Given the description of an element on the screen output the (x, y) to click on. 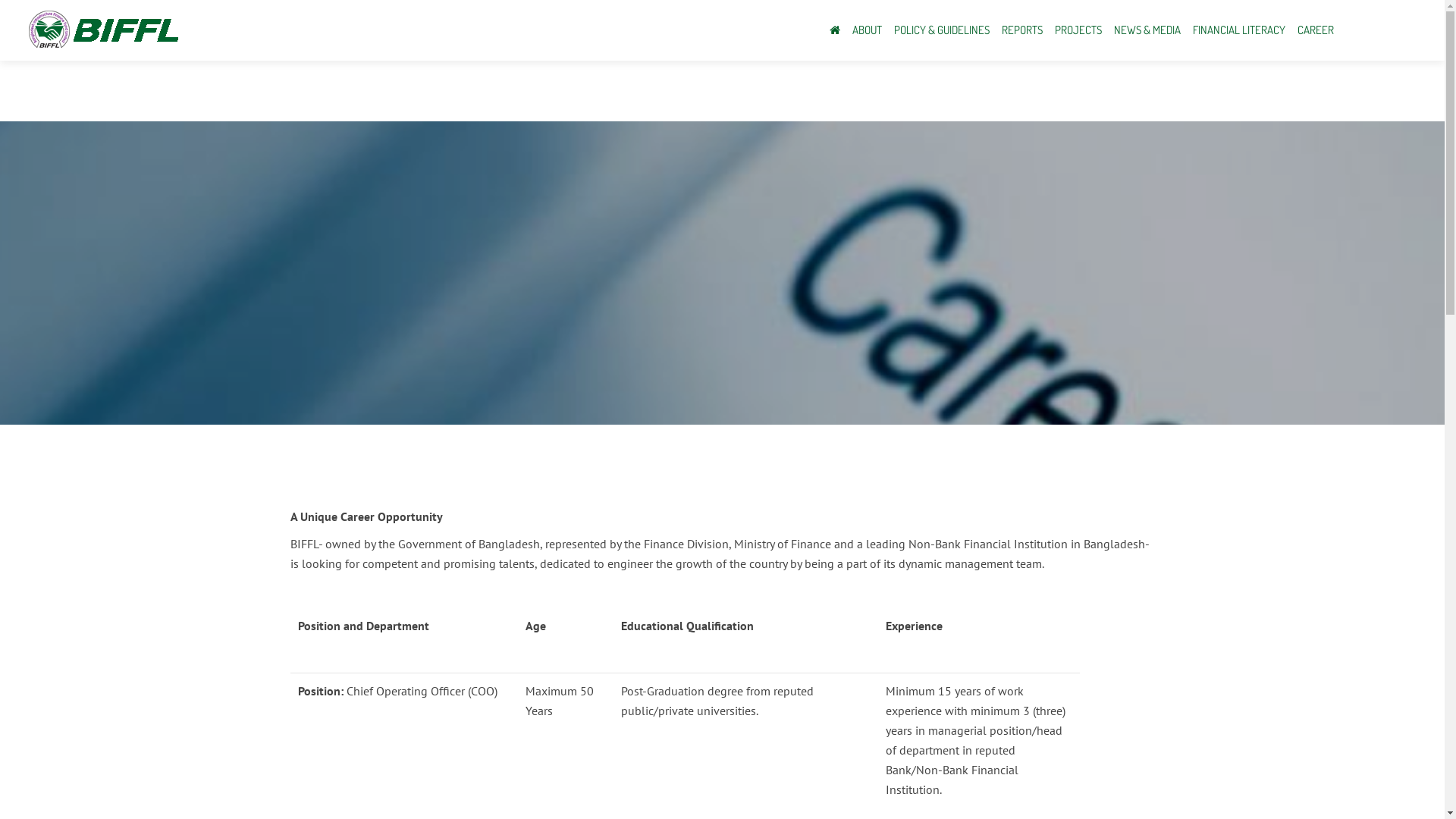
DOWNLOADS Element type: text (329, 598)
ABOUT Element type: text (867, 30)
PROJECTS Element type: text (1077, 30)
GREEN OFFICE Element type: text (334, 638)
REPORTS Element type: text (1021, 30)
SUBSCRIBE Element type: text (929, 726)
BIFFL Hotline: +8809638124335 Element type: text (680, 697)
CONTACT Element type: text (320, 657)
SITEMAP Element type: text (619, 618)
DISCLAIMER Element type: text (628, 657)
NEWS & MEDIA Element type: text (1146, 30)
FINANCIAL LITERACY Element type: text (1238, 30)
REGULATORY DISCLOSURE Element type: text (665, 598)
CAREER Element type: text (1315, 30)
TERM OF USE Element type: text (631, 638)
BB Hotline: 16236 Element type: text (642, 677)
E-TENDER Element type: text (322, 618)
BANKING PROFESSIONAL EXAMINATION Element type: text (401, 677)
POLICY & GUIDELINES Element type: text (941, 30)
